Given the description of an element on the screen output the (x, y) to click on. 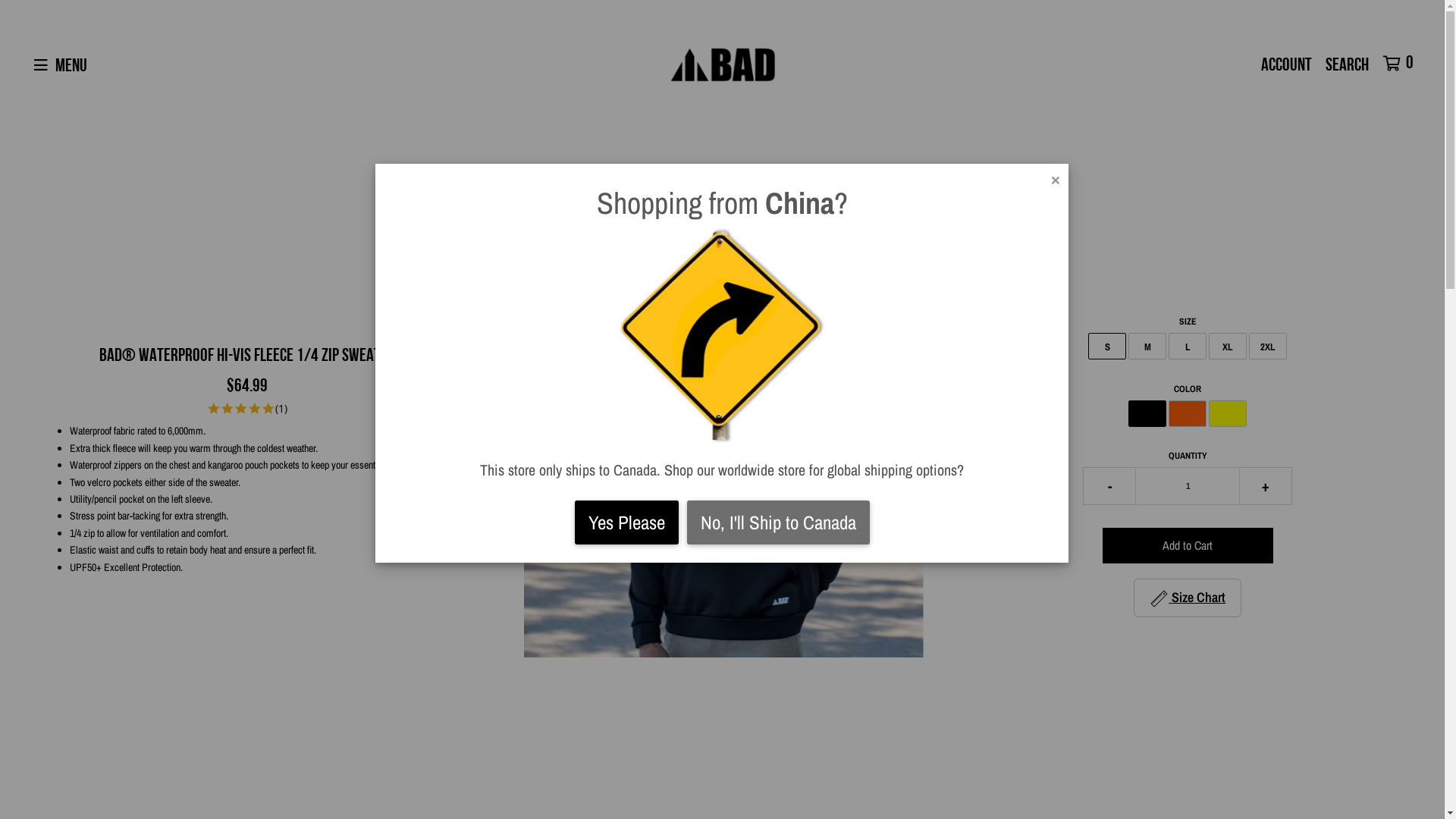
- Element type: text (1108, 486)
ACCOUNT Element type: text (1288, 65)
SEARCH Element type: text (1348, 65)
+ Element type: text (1265, 486)
MENU Element type: text (71, 64)
Add to Cart Element type: text (1187, 545)
0 Element type: text (1402, 63)
Yes Please Element type: text (626, 522)
(1) Element type: text (281, 408)
